Given the description of an element on the screen output the (x, y) to click on. 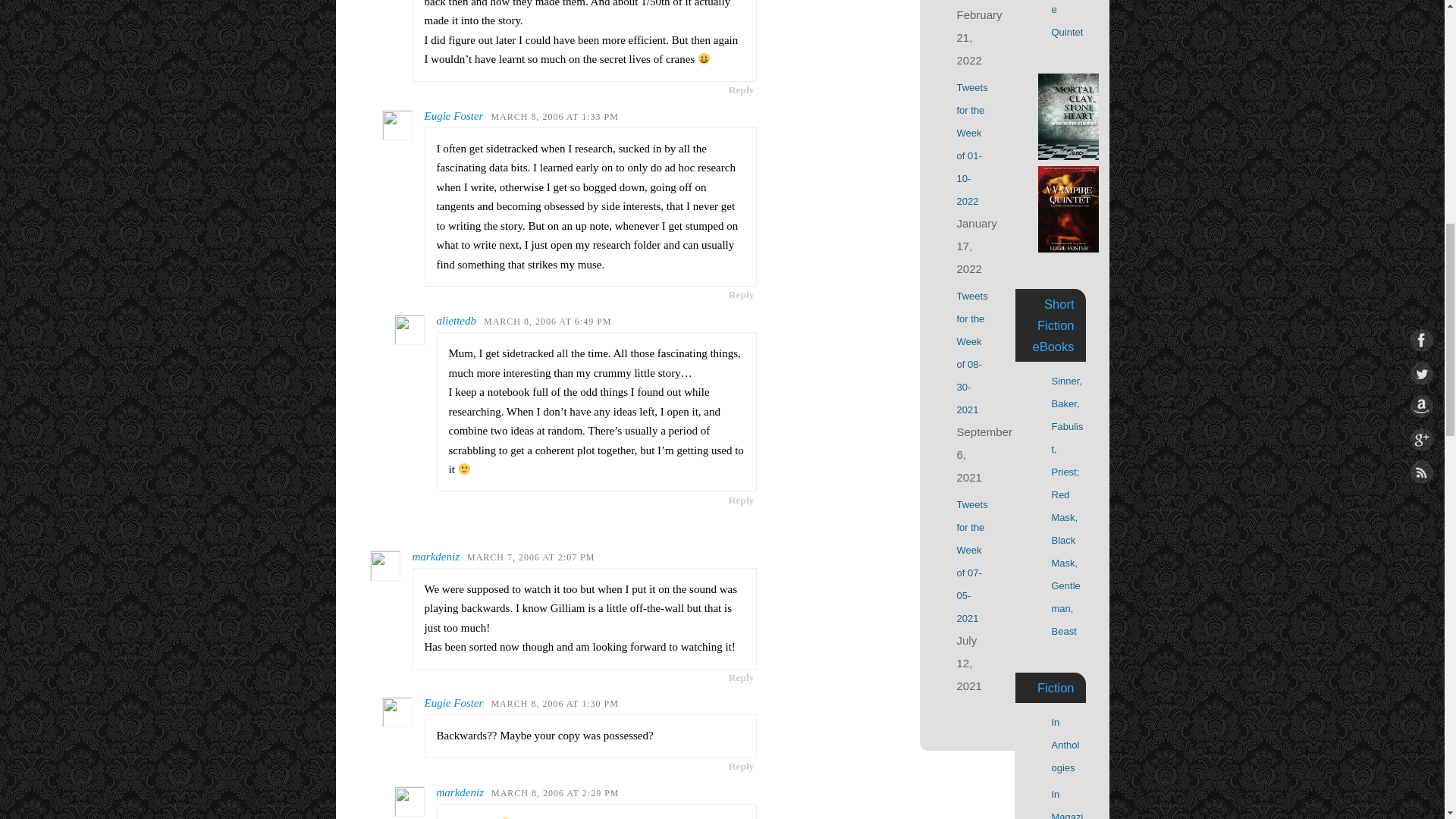
aliettedb (456, 320)
Reply (741, 294)
MARCH 8, 2006 AT 1:33 PM (553, 116)
Eugie Foster (454, 115)
MARCH 8, 2006 AT 6:49 PM (547, 321)
Reply (741, 500)
Reply (741, 677)
Reply (741, 89)
markdeniz (436, 556)
MARCH 7, 2006 AT 2:07 PM (530, 557)
